Given the description of an element on the screen output the (x, y) to click on. 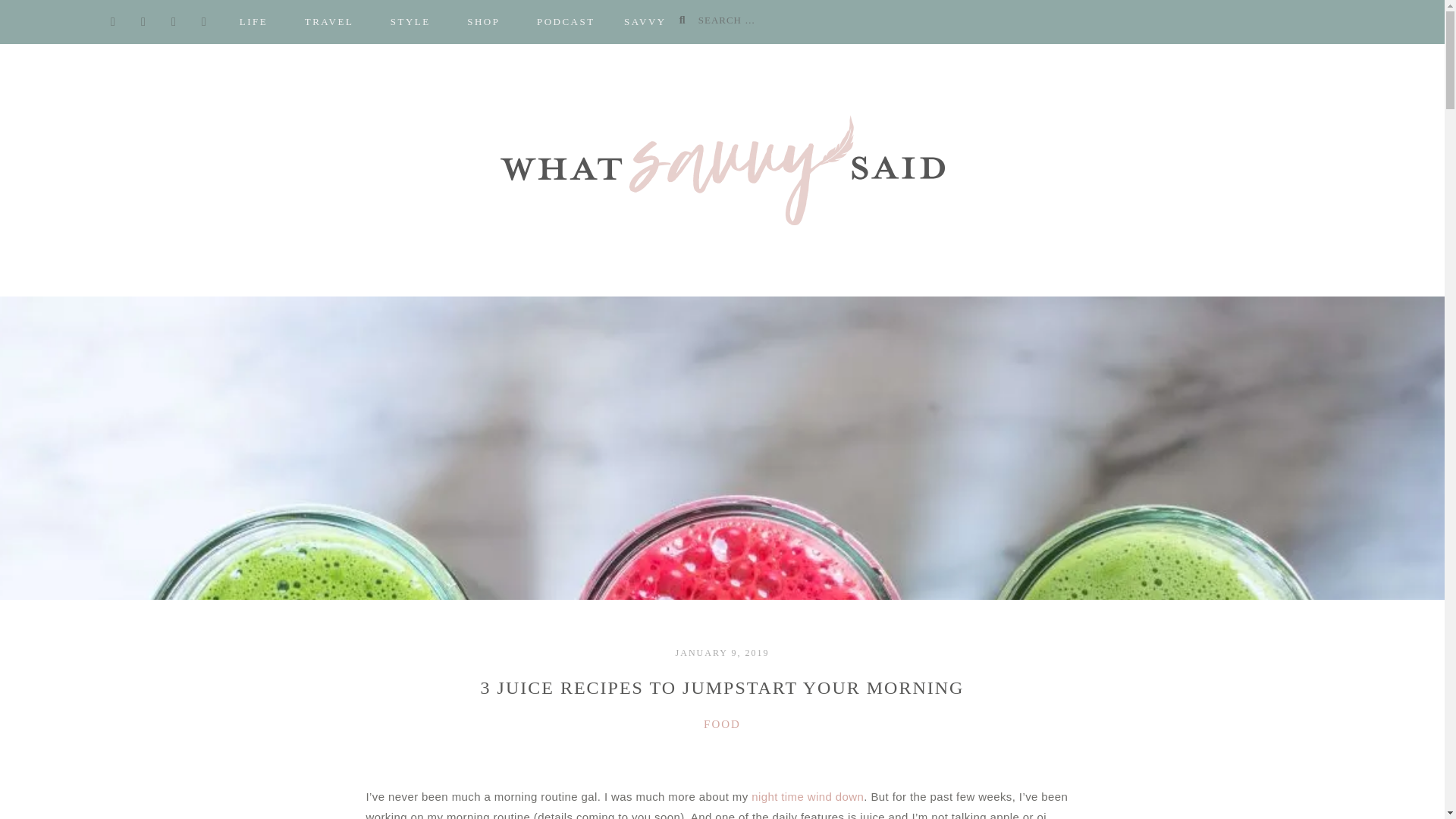
LIFE (254, 21)
JANUARY 9, 2019 (722, 652)
FOOD (722, 724)
SHOP (483, 21)
SAVVY (645, 21)
STYLE (410, 21)
PODCAST (566, 21)
TRAVEL (329, 21)
night time wind down (807, 796)
